Given the description of an element on the screen output the (x, y) to click on. 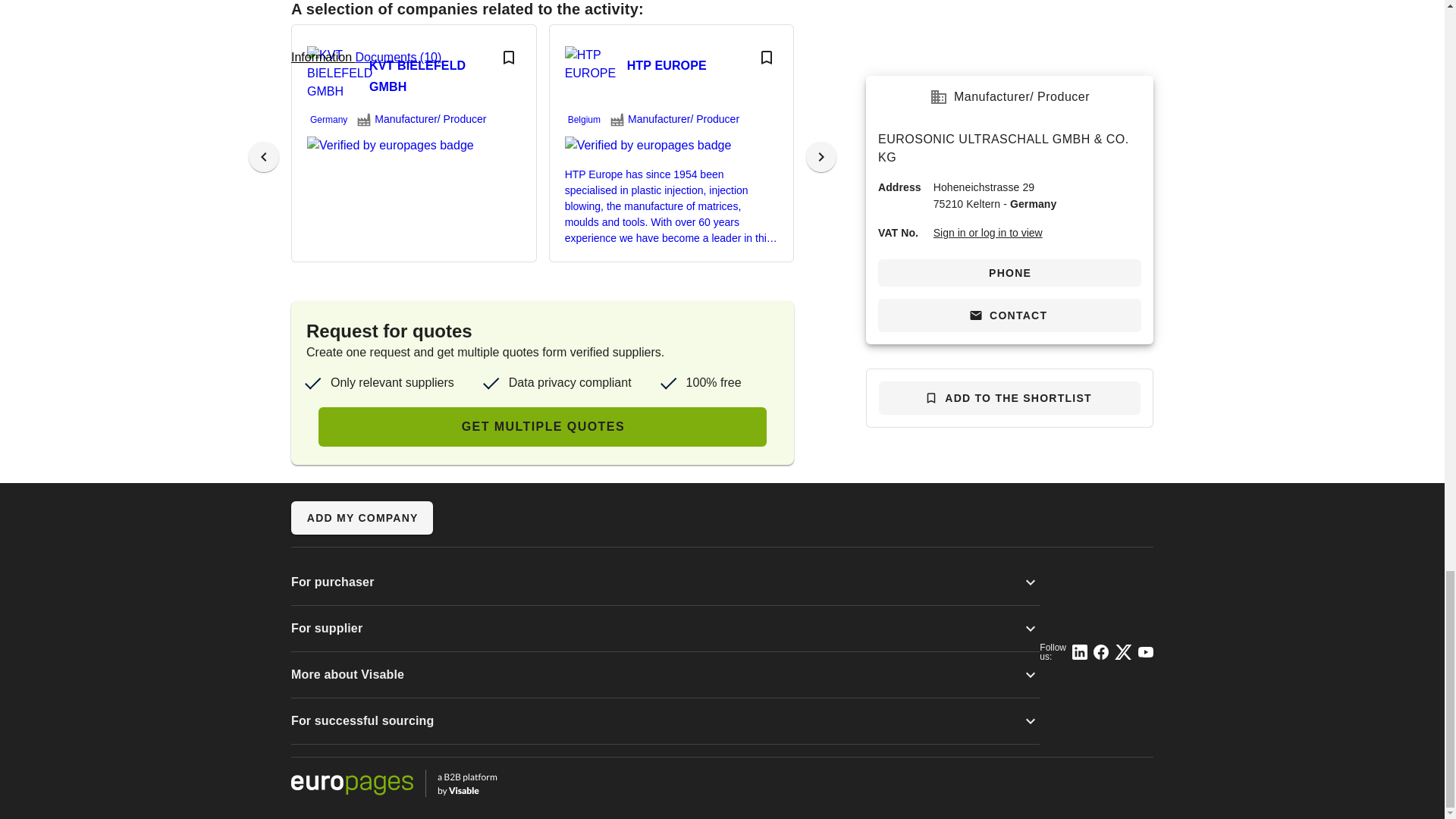
Twitter - europages (1123, 652)
Add my company (361, 517)
Linkedin - europages (1079, 652)
Youtube - europages (1145, 652)
Facebook - europages (1100, 652)
